Given the description of an element on the screen output the (x, y) to click on. 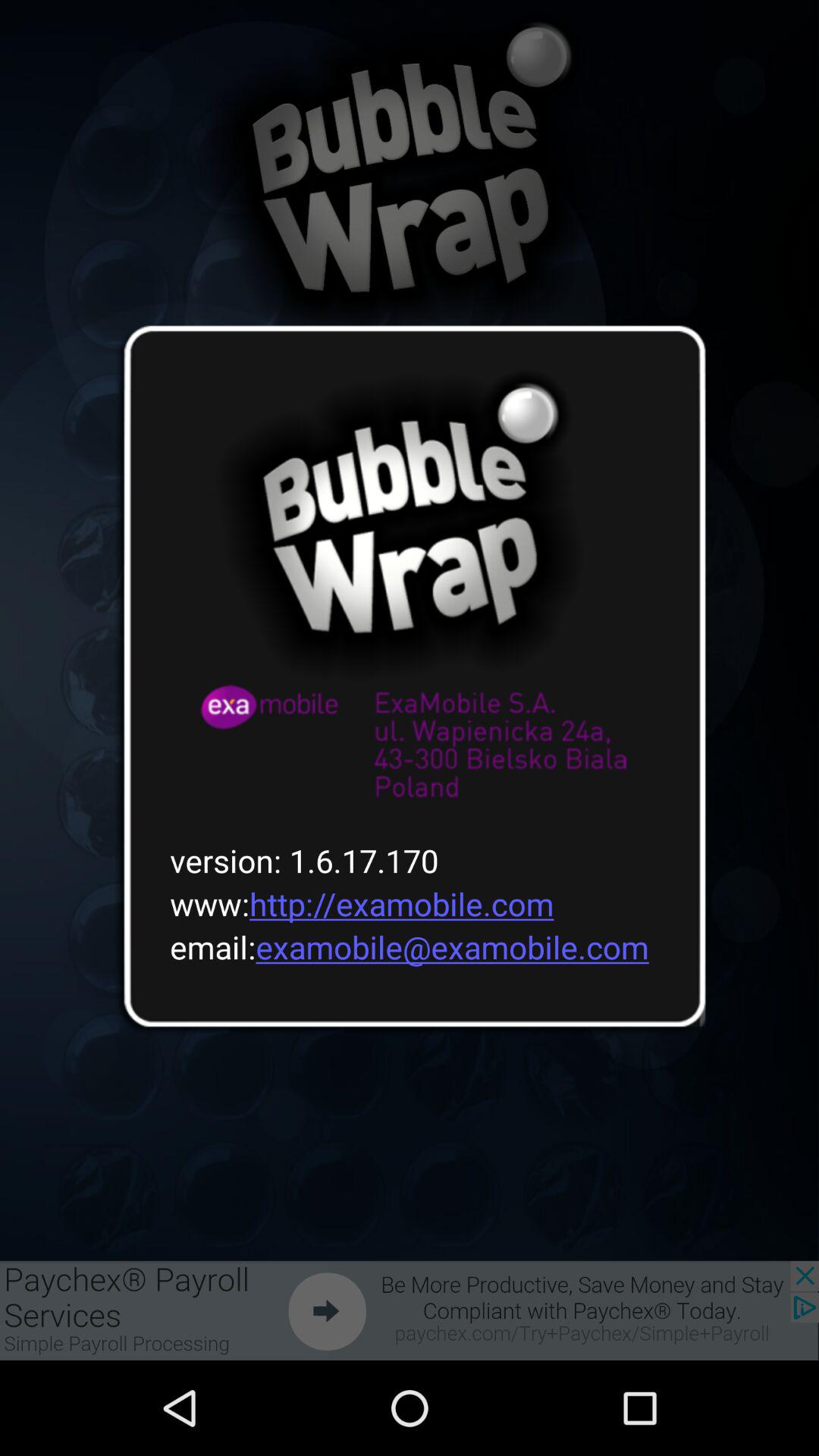
choose icon below version 1 6 icon (351, 903)
